Given the description of an element on the screen output the (x, y) to click on. 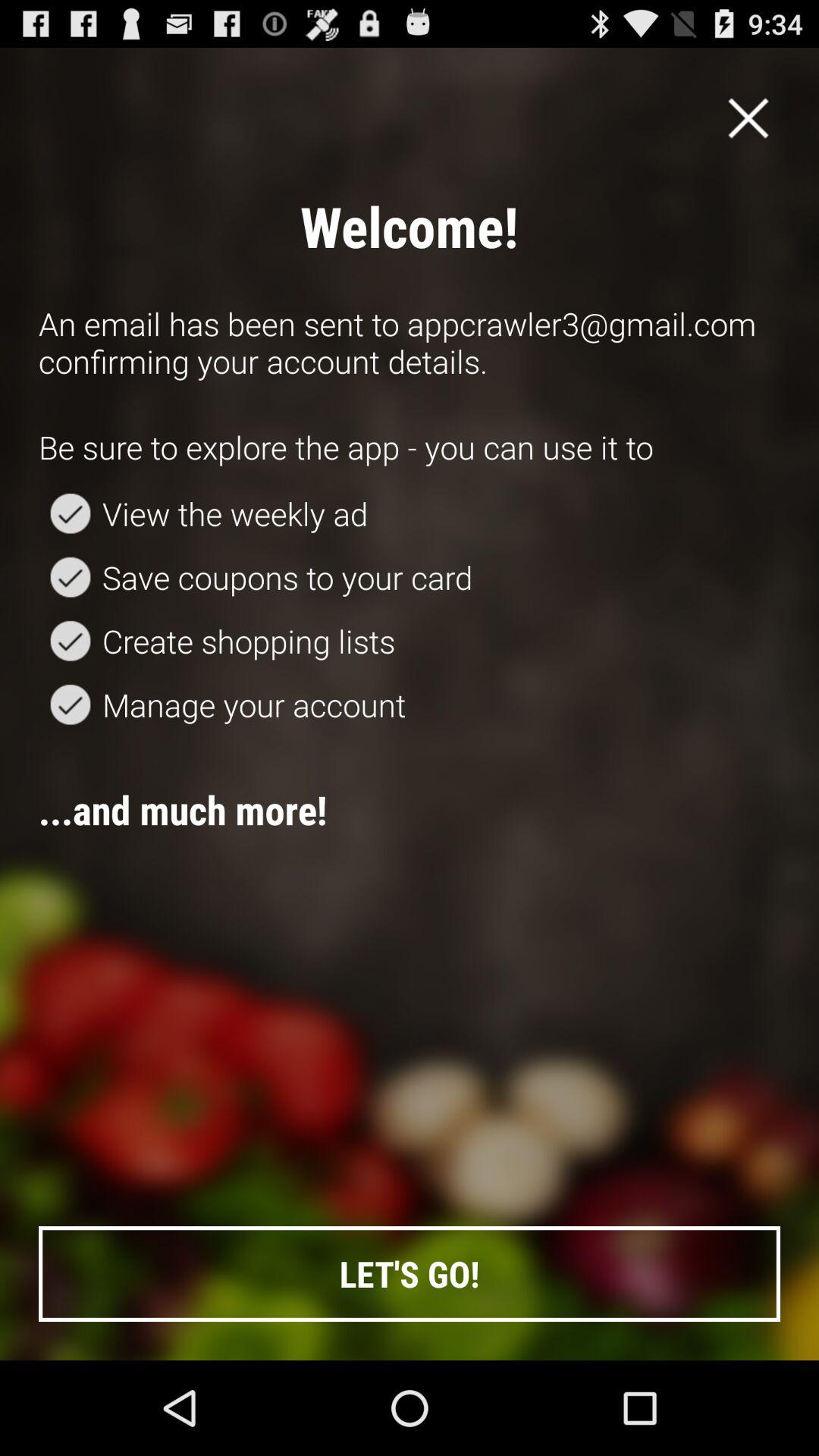
open let's go! item (409, 1273)
